Given the description of an element on the screen output the (x, y) to click on. 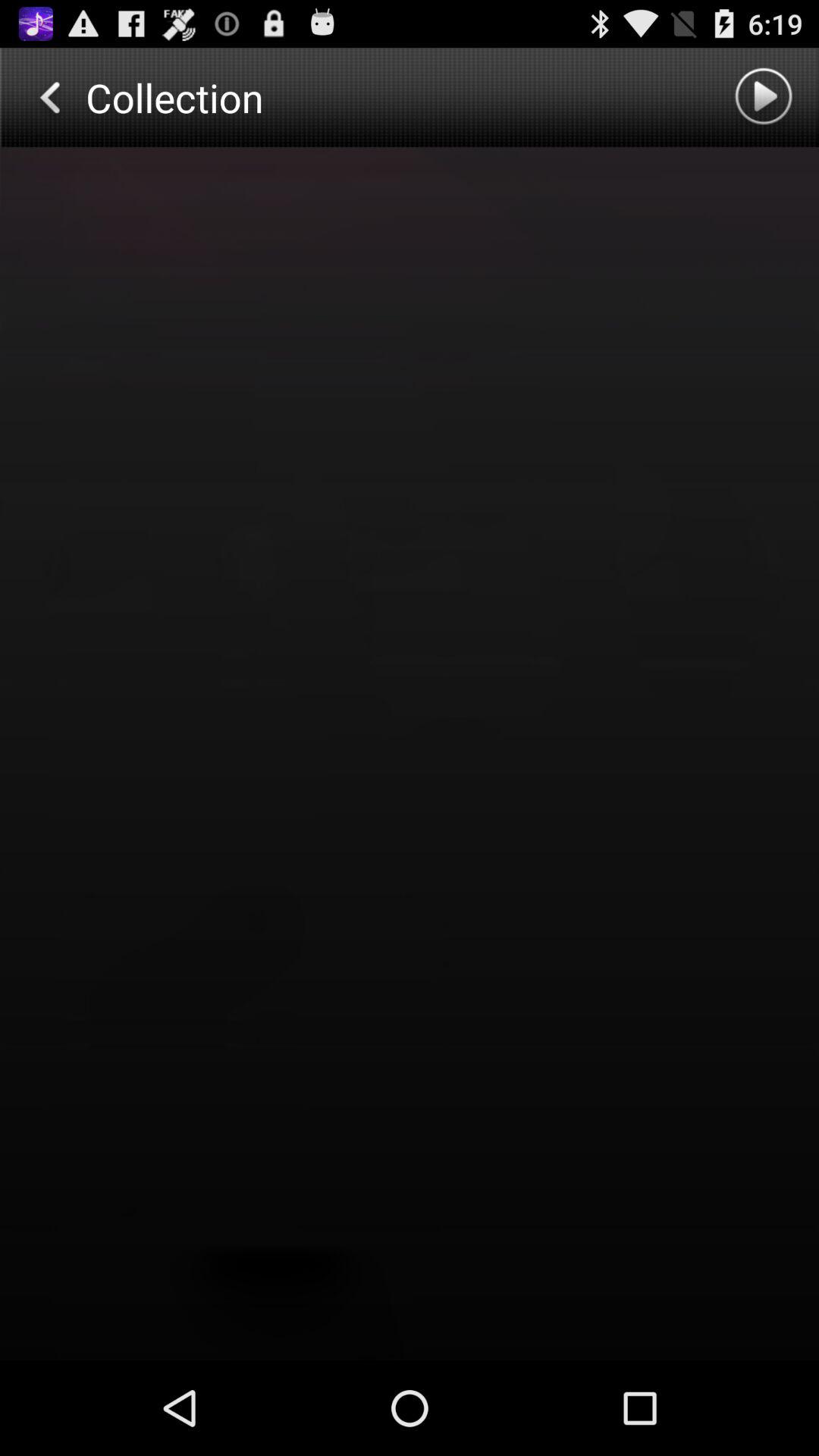
play option (765, 97)
